Given the description of an element on the screen output the (x, y) to click on. 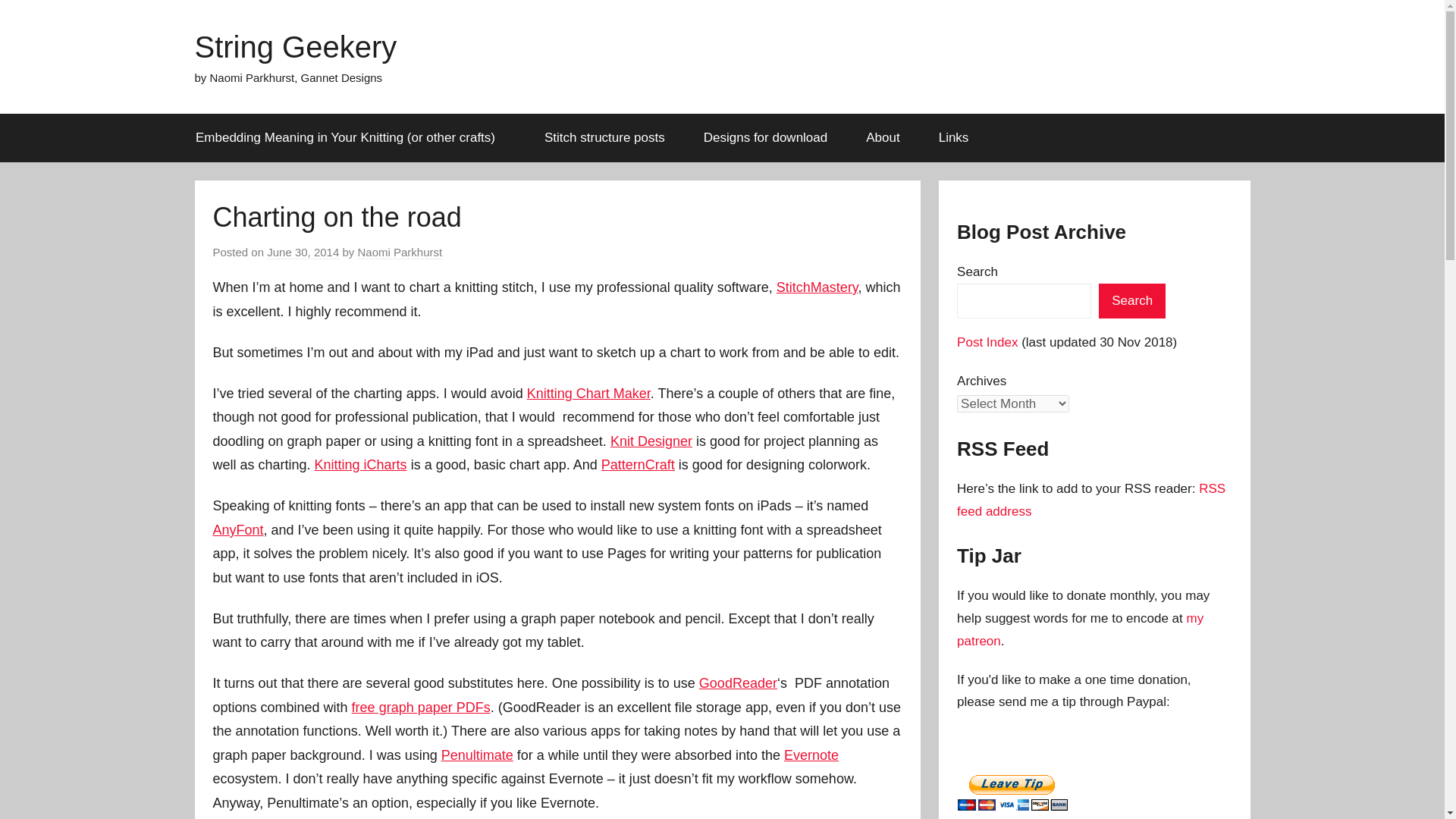
Evernote (811, 754)
Stitch structure posts (604, 137)
June 30, 2014 (302, 252)
Penultimate (477, 754)
PatternCraft (638, 464)
Naomi Parkhurst (400, 252)
About (882, 137)
String Geekery (294, 46)
AnyFont (237, 529)
View all posts by Naomi Parkhurst (400, 252)
